Given the description of an element on the screen output the (x, y) to click on. 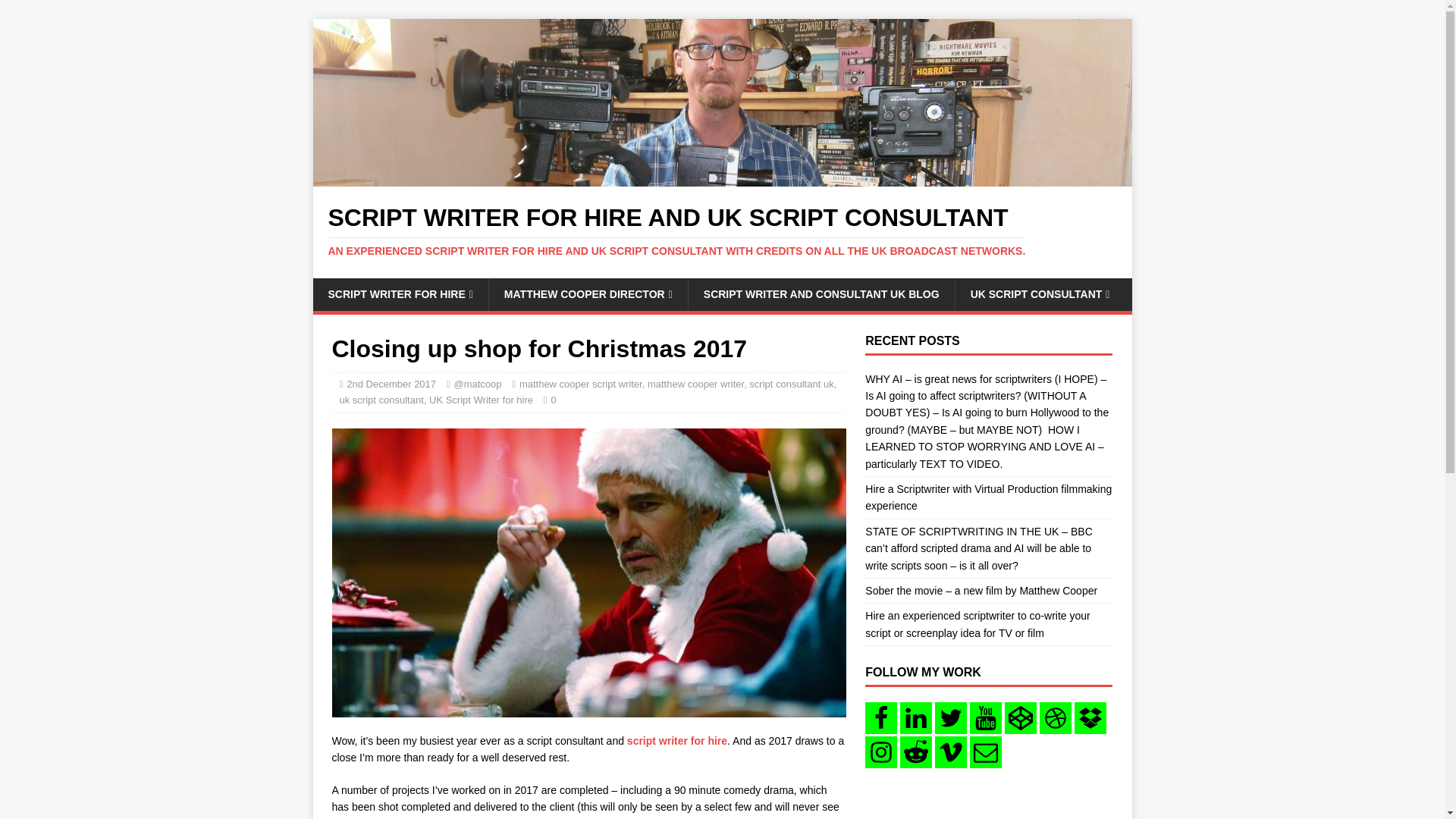
Twitter (950, 717)
Script writer for hire and UK script consultant (722, 177)
Vimeo (950, 752)
Dribbble (1055, 717)
LinkedIn (915, 717)
Instagram (880, 752)
Facebook (880, 717)
Dropbox (1090, 717)
Codepen (1020, 717)
